Given the description of an element on the screen output the (x, y) to click on. 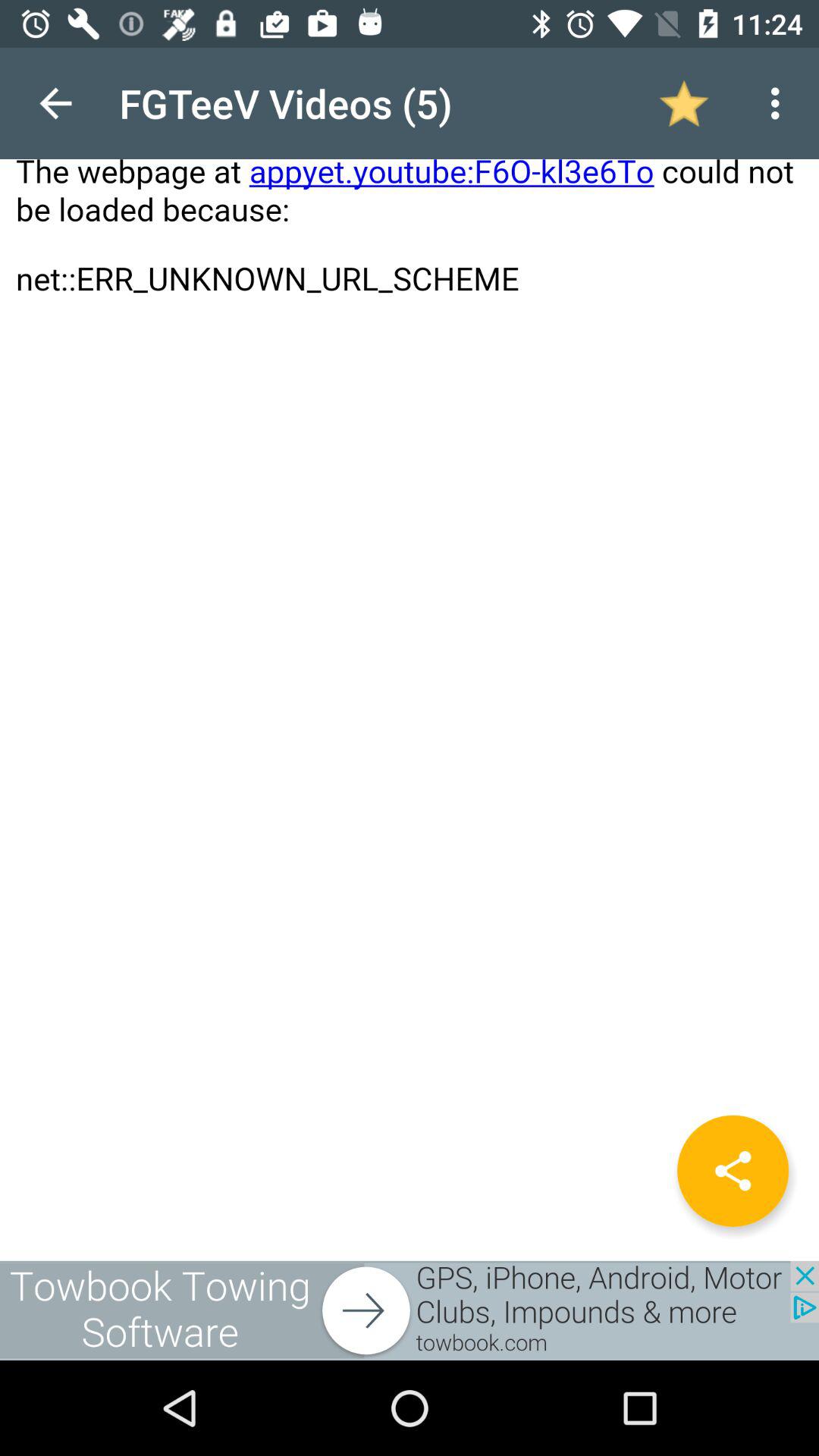
erro (409, 653)
